Given the description of an element on the screen output the (x, y) to click on. 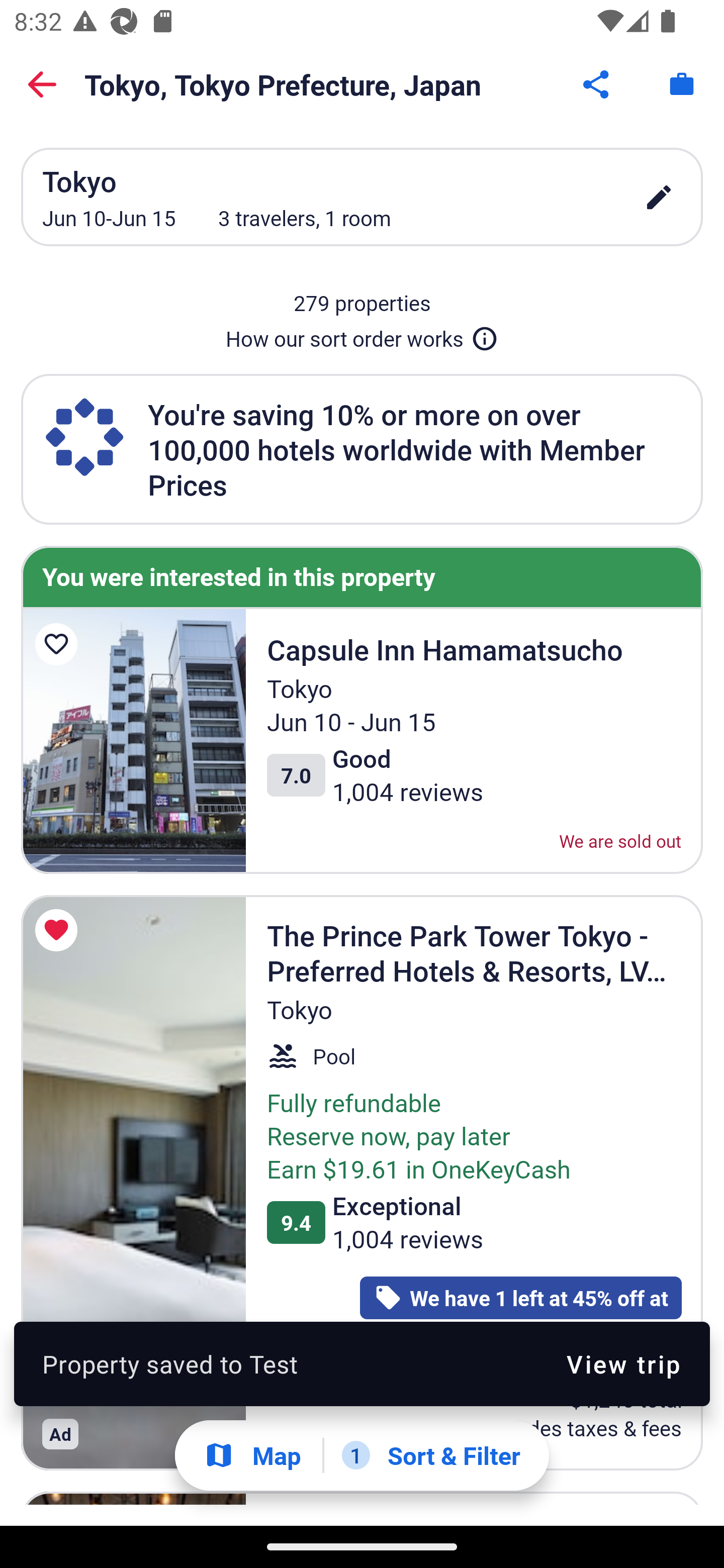
Back (42, 84)
Share Button (597, 84)
Trips. Button (681, 84)
Tokyo Jun 10-Jun 15 3 travelers, 1 room edit (361, 196)
How our sort order works (361, 334)
Save Capsule Inn Hamamatsucho to a trip (59, 644)
Capsule Inn Hamamatsucho (133, 740)
Capsule Inn Hamamatsucho (128, 1340)
View trip (623, 1363)
1 Sort & Filter 1 Filter applied. Filters Button (430, 1455)
Show map Map Show map Button (252, 1455)
